Given the description of an element on the screen output the (x, y) to click on. 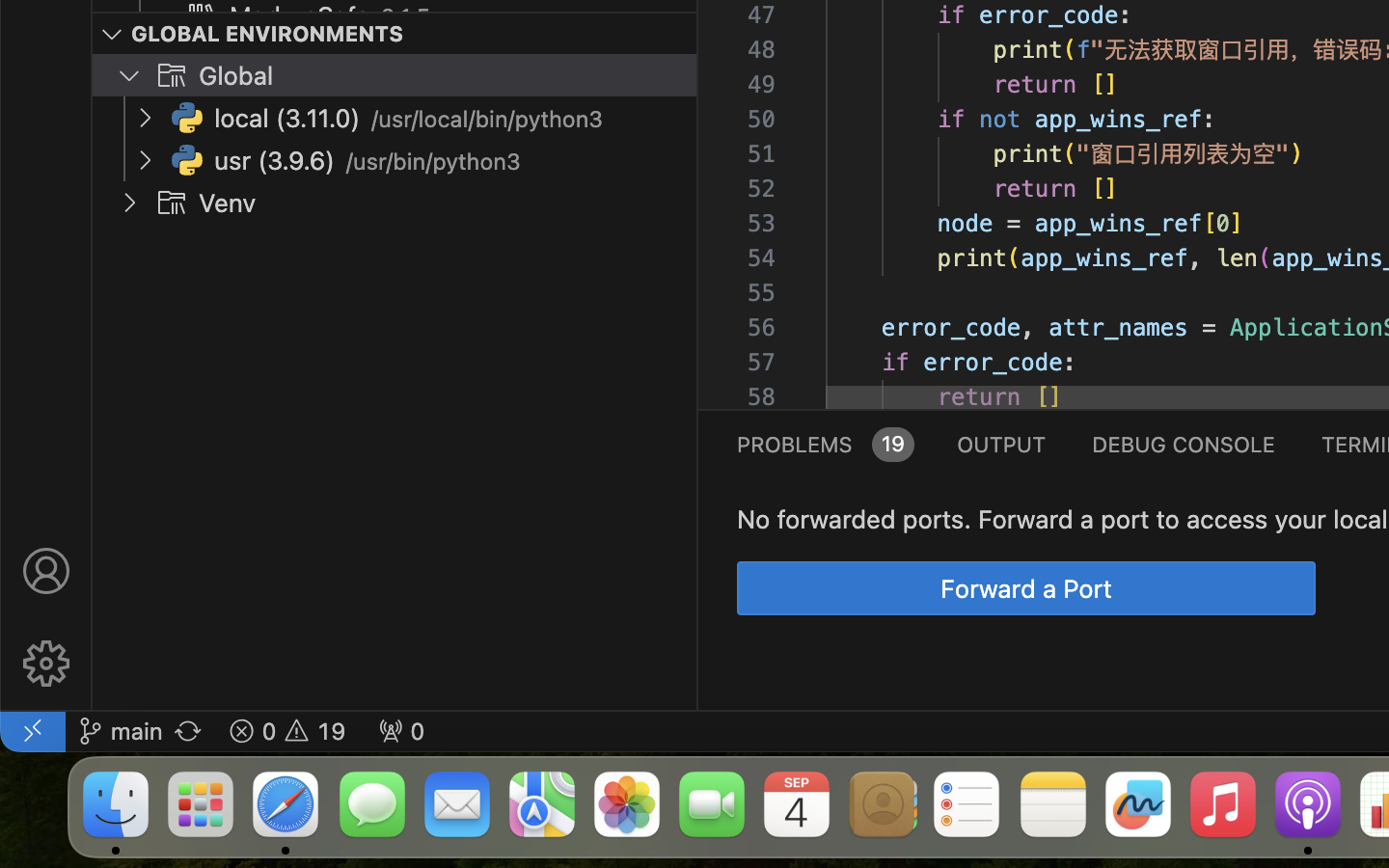
GLOBAL ENVIRONMENTS Element type: AXStaticText (268, 33)
0 PROBLEMS 19 Element type: AXRadioButton (824, 443)
/usr/local/bin/python3 Element type: AXStaticText (487, 119)
 Element type: AXStaticText (171, 74)
main  Element type: AXButton (120, 730)
